Given the description of an element on the screen output the (x, y) to click on. 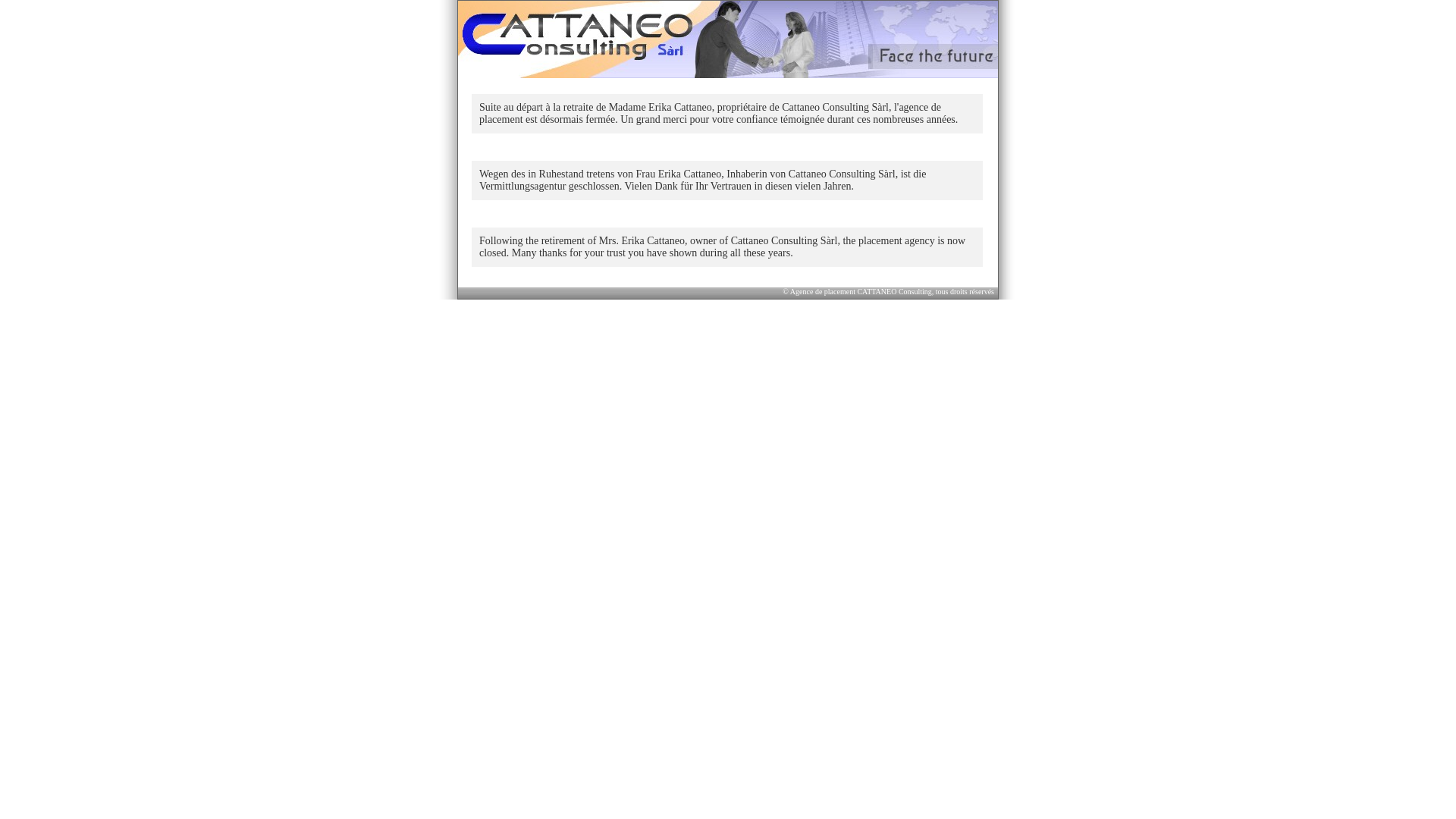
  Element type: text (727, 39)
